Given the description of an element on the screen output the (x, y) to click on. 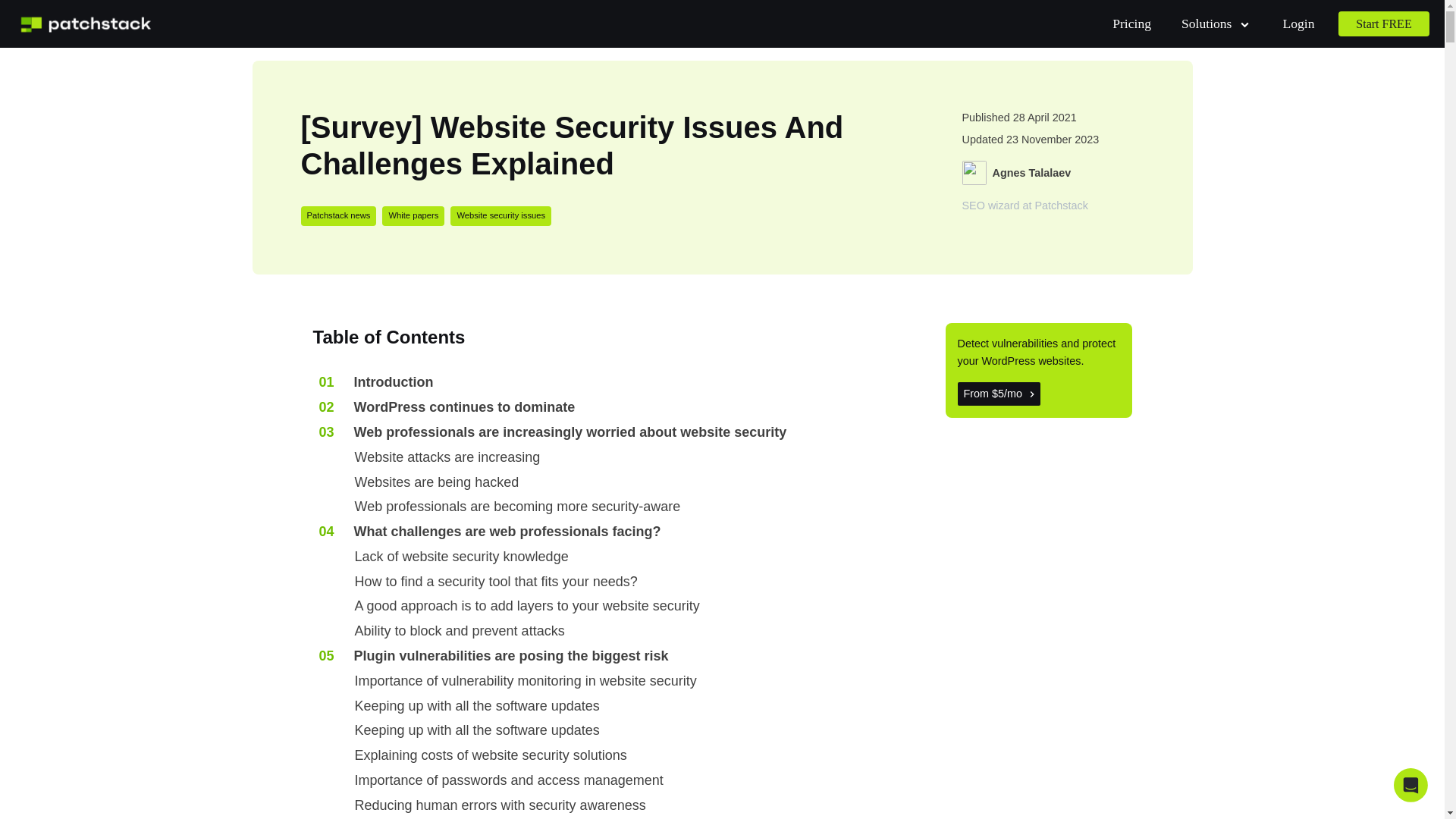
Login (1297, 22)
Agnes Talalaev (1030, 173)
WordPress continues to dominate (446, 407)
Importance of vulnerability monitoring in website security (526, 681)
Introduction (376, 382)
Keeping up with all the software updates (477, 730)
Start FREE (1383, 23)
Plugin vulnerabilities are posing the biggest risk (493, 656)
What challenges are web professionals facing? (489, 531)
Reducing human errors with security awareness (500, 805)
